Given the description of an element on the screen output the (x, y) to click on. 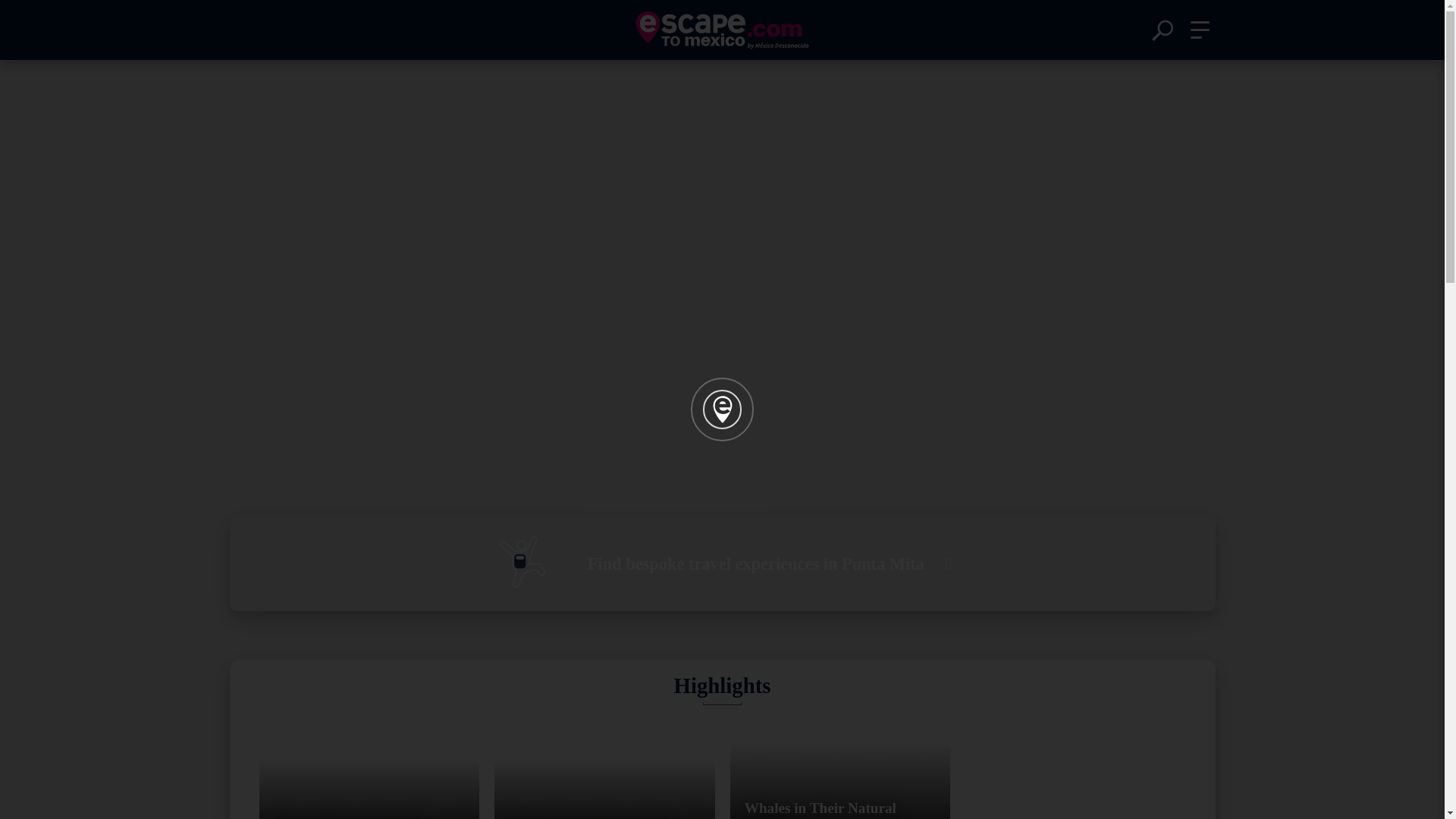
Whales in Their Natural Habitat (839, 766)
Olive Ridley Sea Turtles (369, 766)
Find bespoke travel experiences in Punta Mita (721, 563)
